Given the description of an element on the screen output the (x, y) to click on. 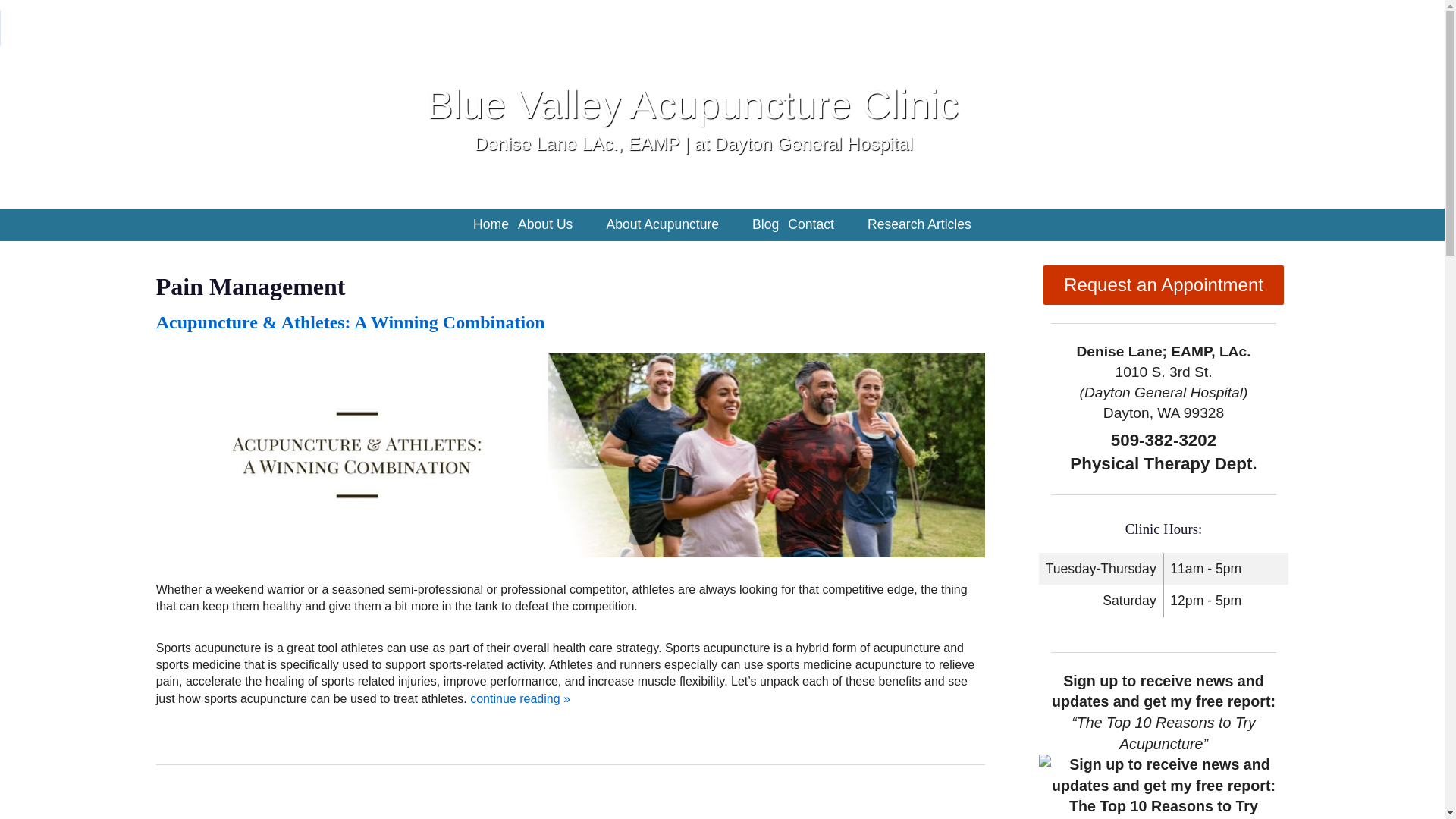
Contact (810, 224)
Research Articles (919, 224)
Request an Appointment (1163, 284)
About Us (544, 224)
About Acupuncture (662, 224)
Blog (765, 224)
Read (349, 322)
Home (490, 224)
